Given the description of an element on the screen output the (x, y) to click on. 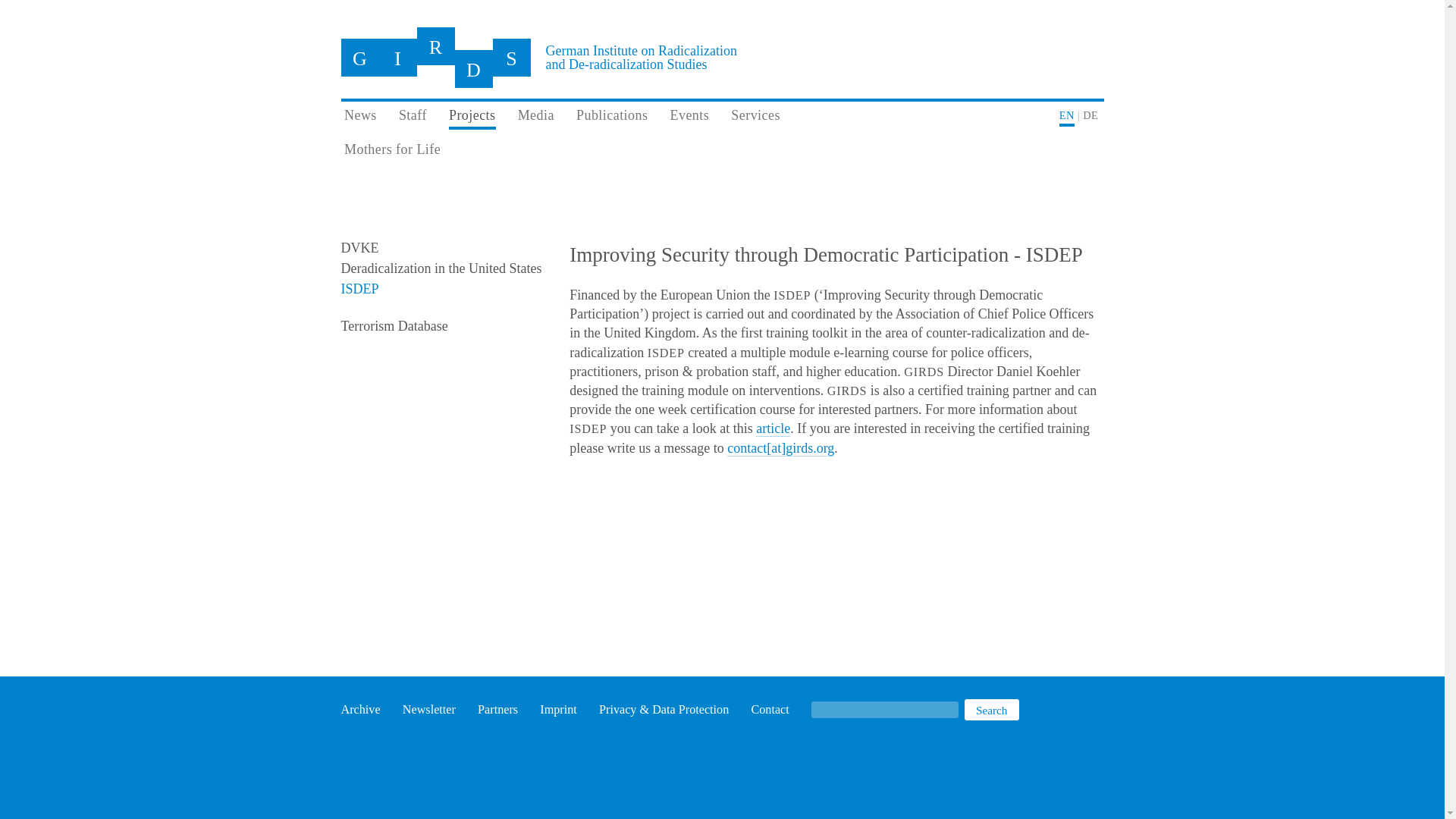
Mothers for Life (723, 152)
Contact (770, 709)
Imprint (558, 709)
Search (991, 709)
Partners (497, 709)
Media (536, 116)
Staff (412, 116)
article (772, 428)
DVKE (359, 247)
DE (1090, 116)
Deradicalization in the United States (440, 268)
Archive (360, 709)
Services (755, 116)
Projects (472, 118)
